Given the description of an element on the screen output the (x, y) to click on. 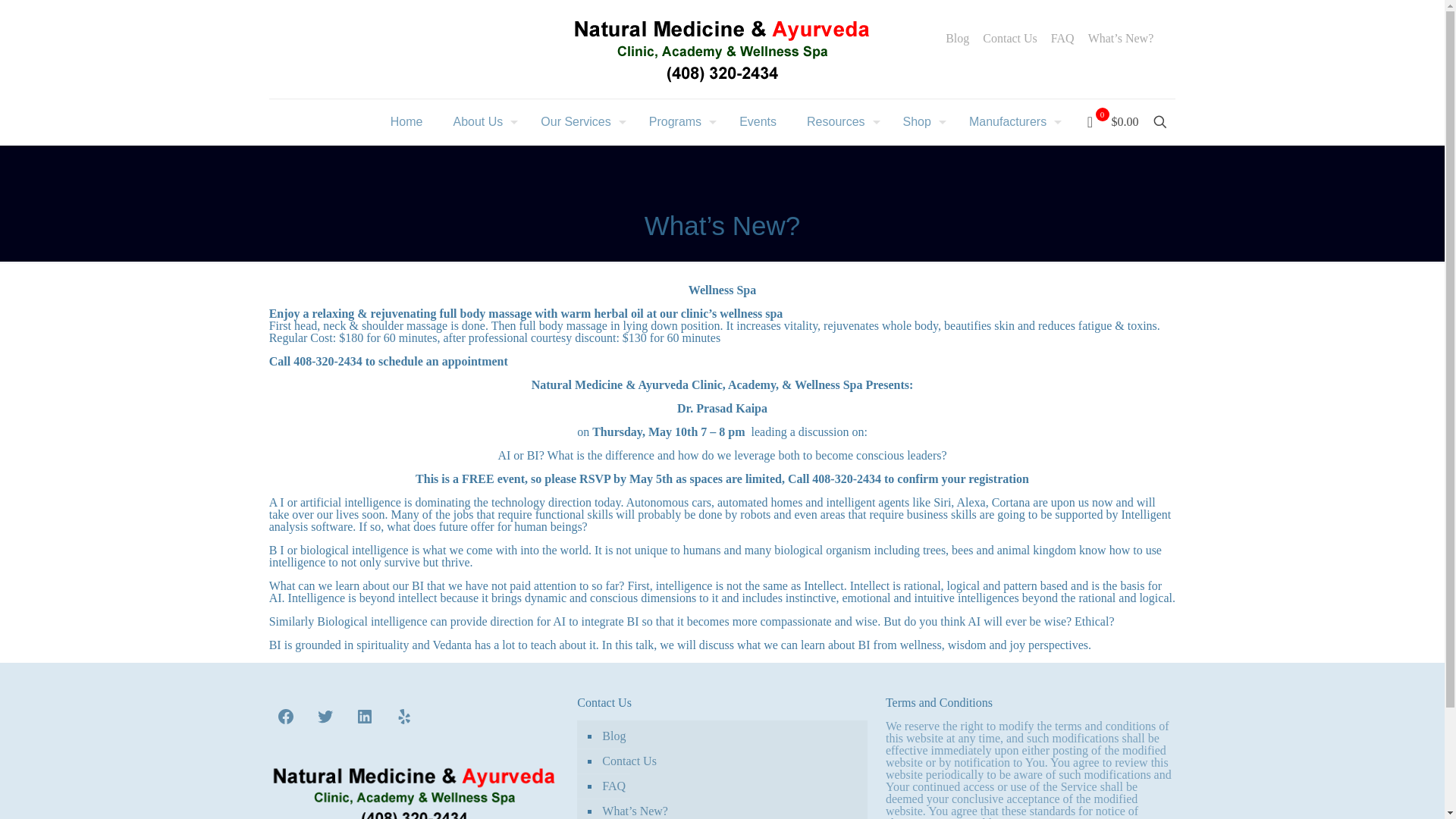
About Us (481, 121)
Our Services (579, 121)
Programs (678, 121)
Home (406, 121)
Events (757, 121)
Shop (920, 121)
Resources (839, 121)
